Given the description of an element on the screen output the (x, y) to click on. 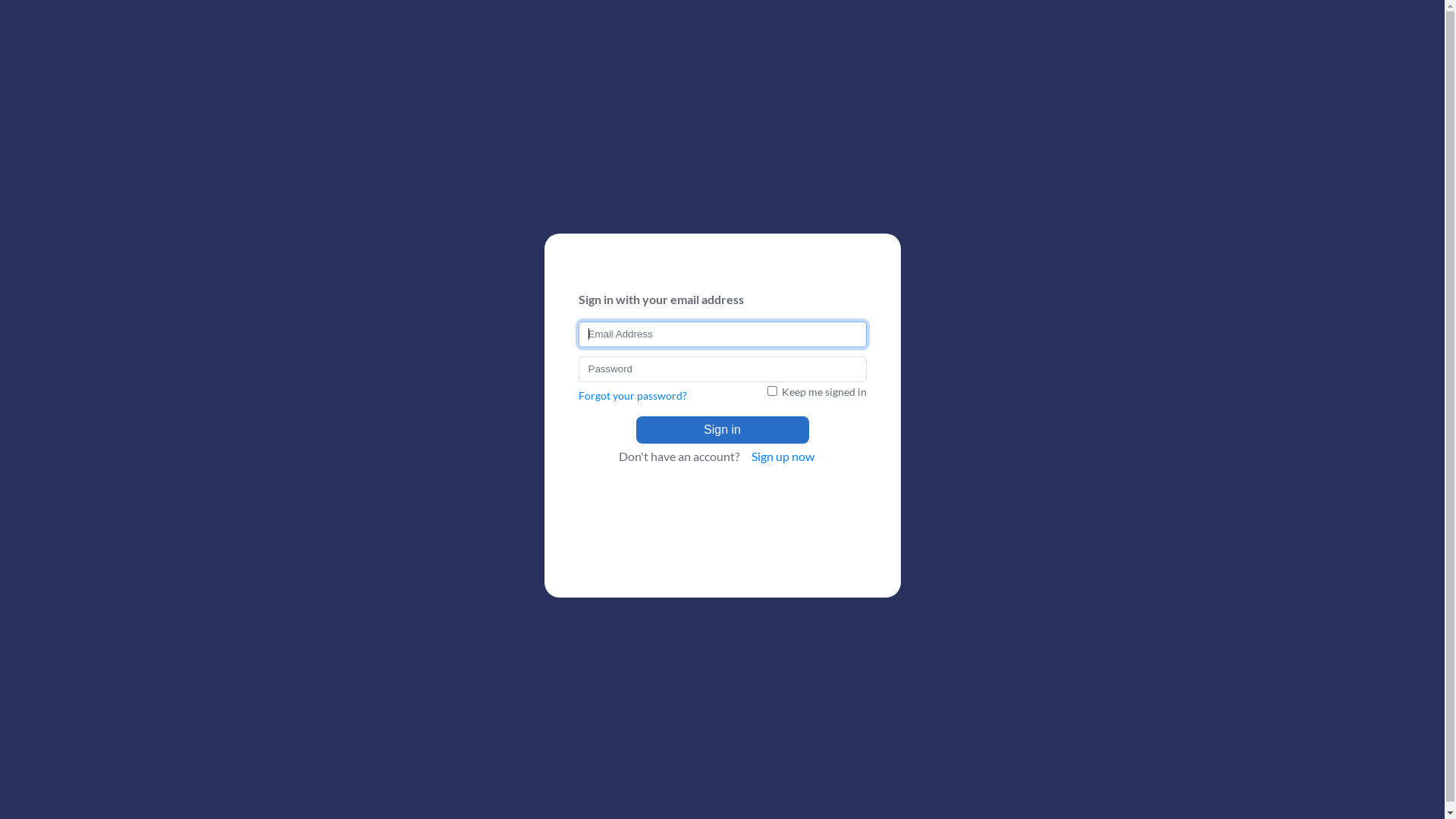
Sign in Element type: text (721, 428)
Sign up now Element type: text (781, 454)
Please enter a valid Email Address Element type: hover (721, 334)
Forgot your password? Element type: text (631, 394)
